Given the description of an element on the screen output the (x, y) to click on. 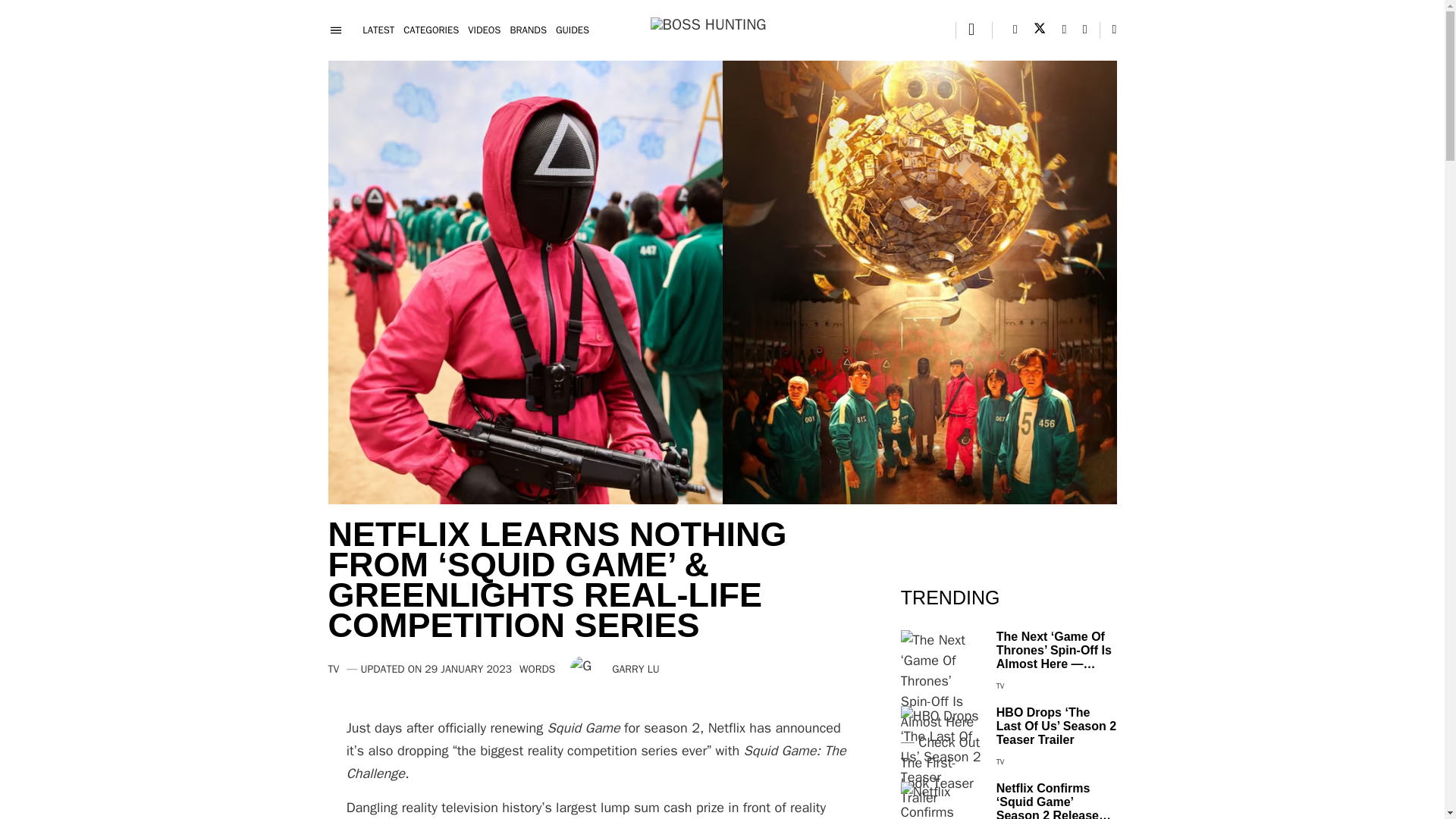
LATEST (378, 30)
CATEGORIES (430, 30)
